Given the description of an element on the screen output the (x, y) to click on. 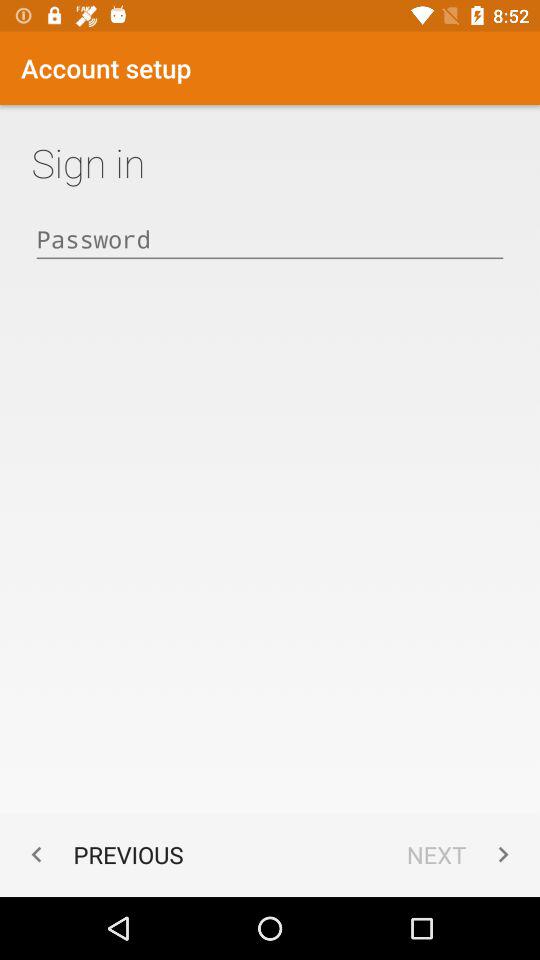
choose item to the right of previous (462, 854)
